Given the description of an element on the screen output the (x, y) to click on. 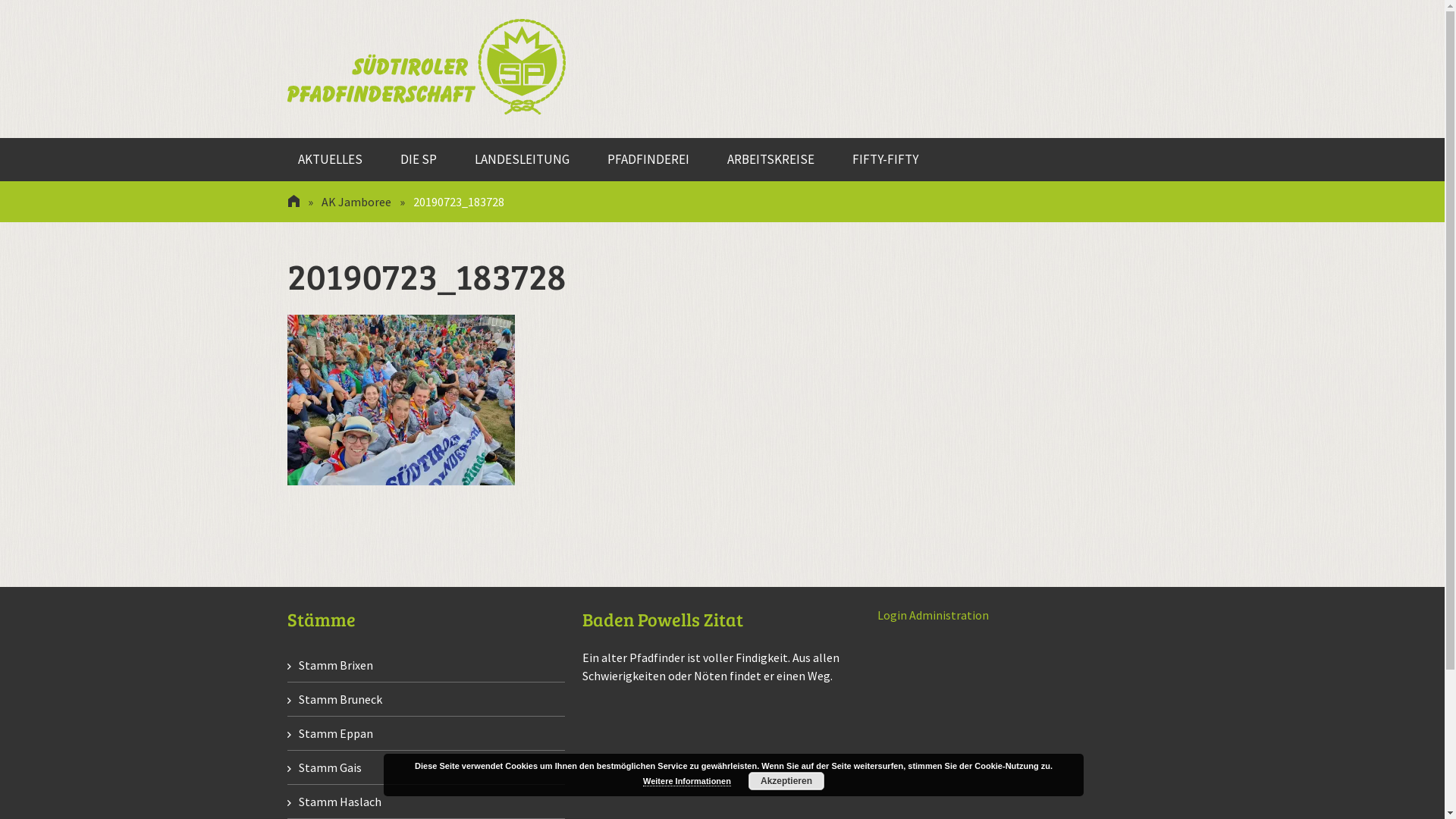
ARBEITSKREISE Element type: text (770, 159)
FIFTY-FIFTY Element type: text (884, 159)
Skip to content Element type: text (296, 137)
Akzeptieren Element type: text (786, 780)
Stamm Gais Element type: text (324, 767)
Stamm Bruneck Element type: text (334, 699)
Stamm Haslach Element type: text (334, 801)
AKTUELLES Element type: text (330, 159)
LANDESLEITUNG Element type: text (521, 159)
Login Administration Element type: text (932, 614)
AK Jamboree Element type: text (356, 201)
Stamm Eppan Element type: text (330, 733)
DIE SP Element type: text (417, 159)
Stamm Brixen Element type: text (330, 664)
Weitere Informationen Element type: text (687, 781)
PFADFINDEREI Element type: text (648, 159)
